Given the description of an element on the screen output the (x, y) to click on. 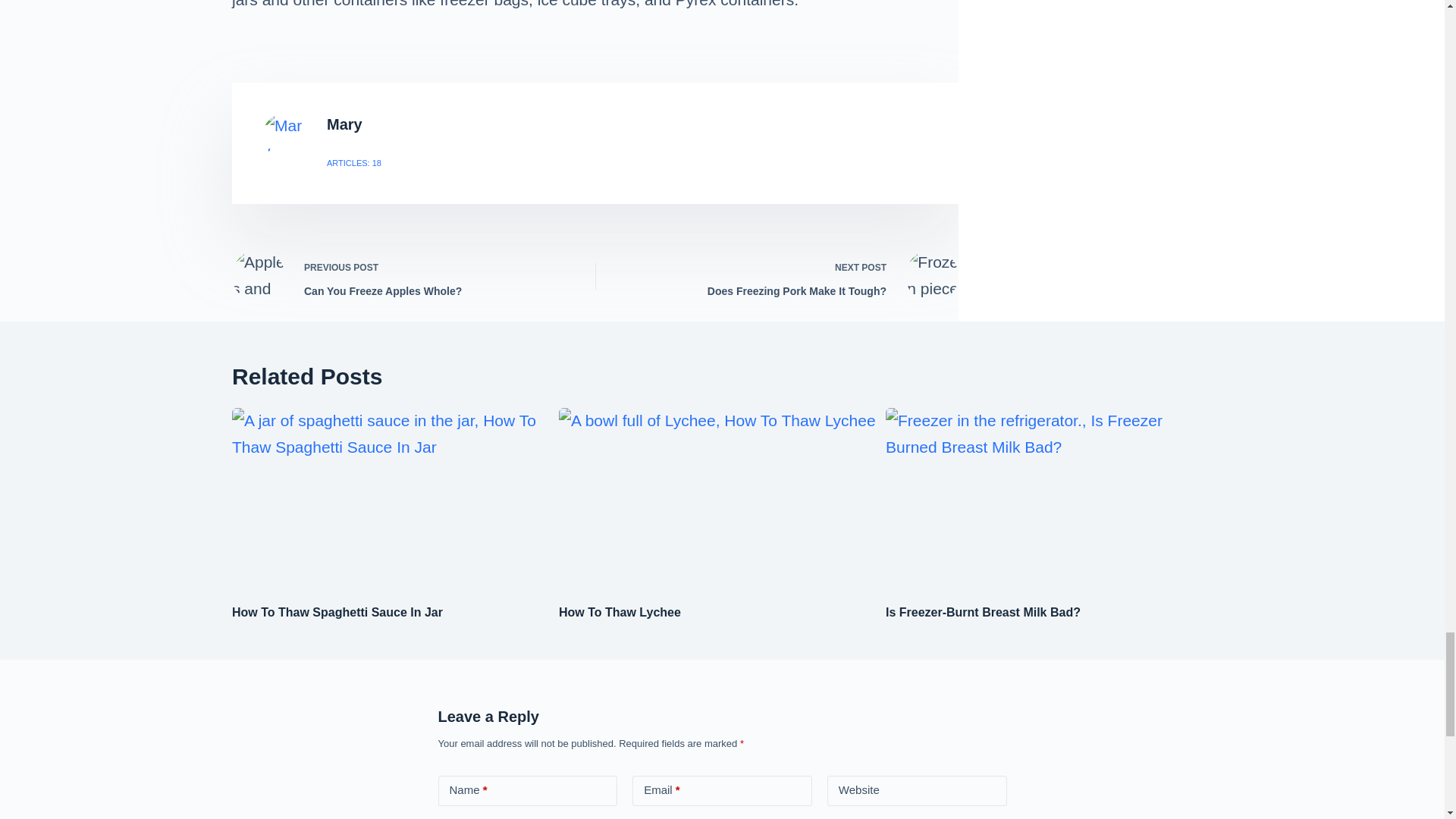
ARTICLES: 18 (353, 162)
